Given the description of an element on the screen output the (x, y) to click on. 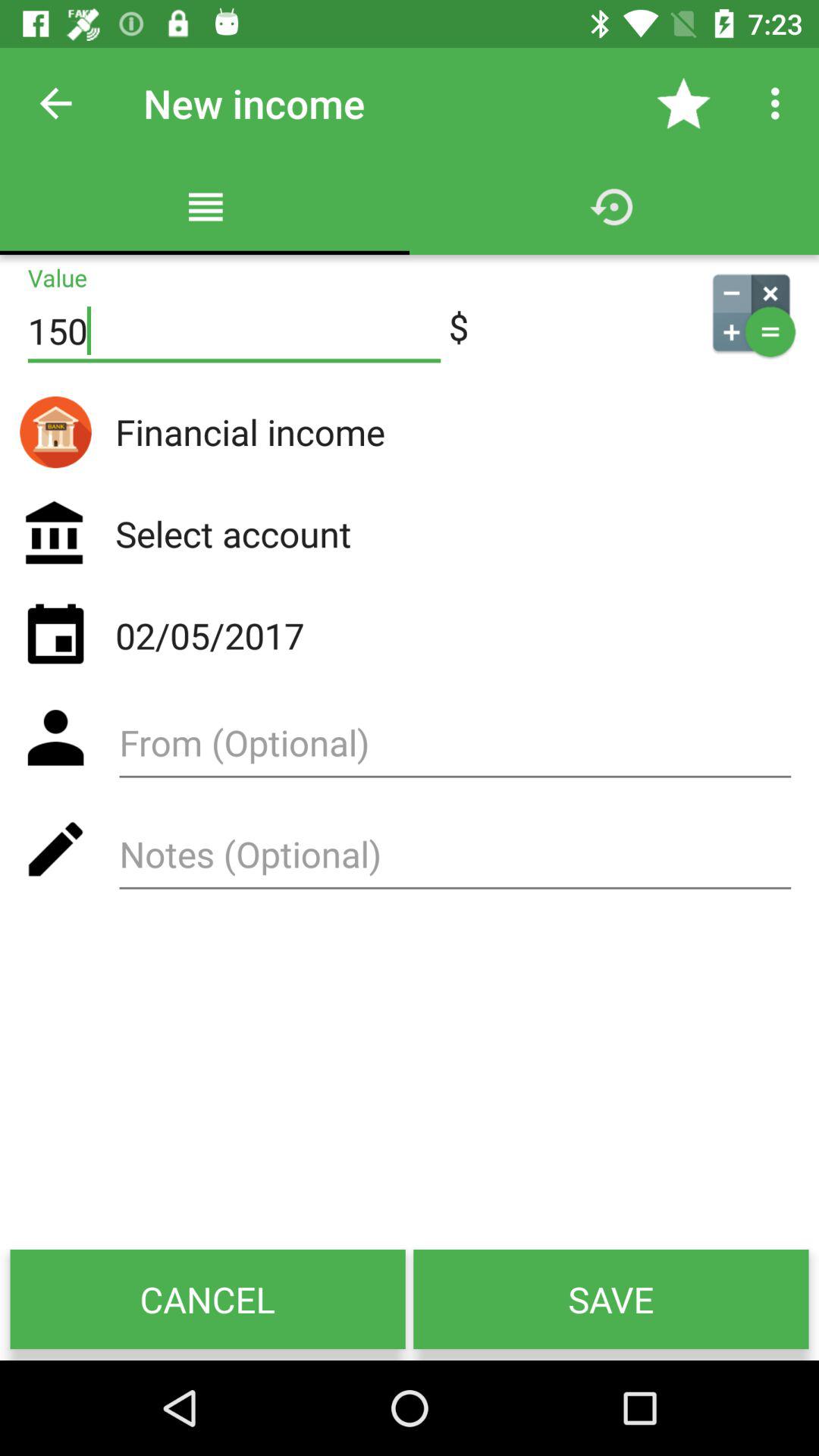
from optional (455, 748)
